Given the description of an element on the screen output the (x, y) to click on. 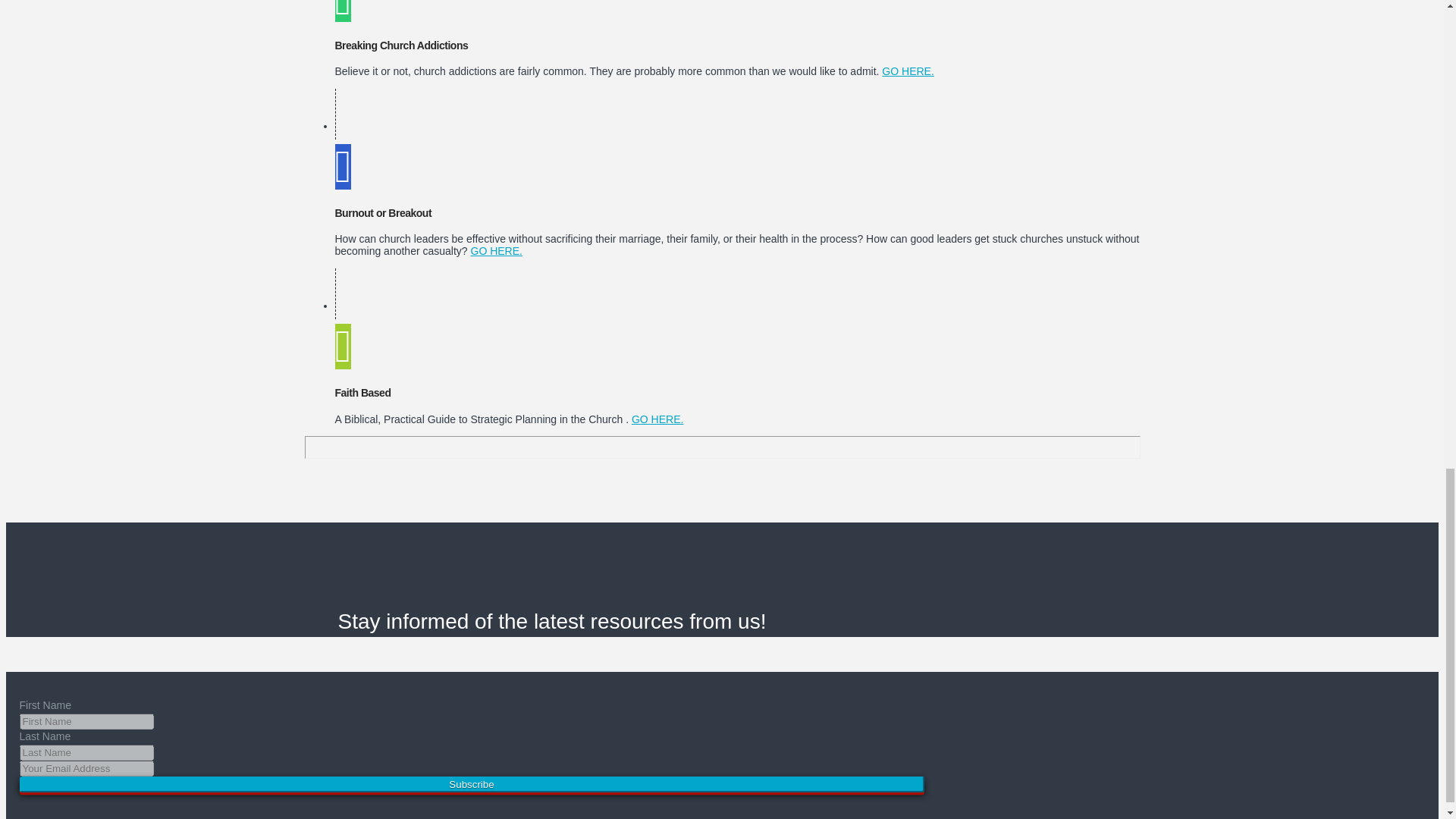
GO HERE. (656, 419)
GO HERE. (656, 419)
GO HERE. (495, 250)
GO HERE. (907, 70)
GO HERE. (907, 70)
GO HERE. (495, 250)
Subscribe (472, 784)
